Given the description of an element on the screen output the (x, y) to click on. 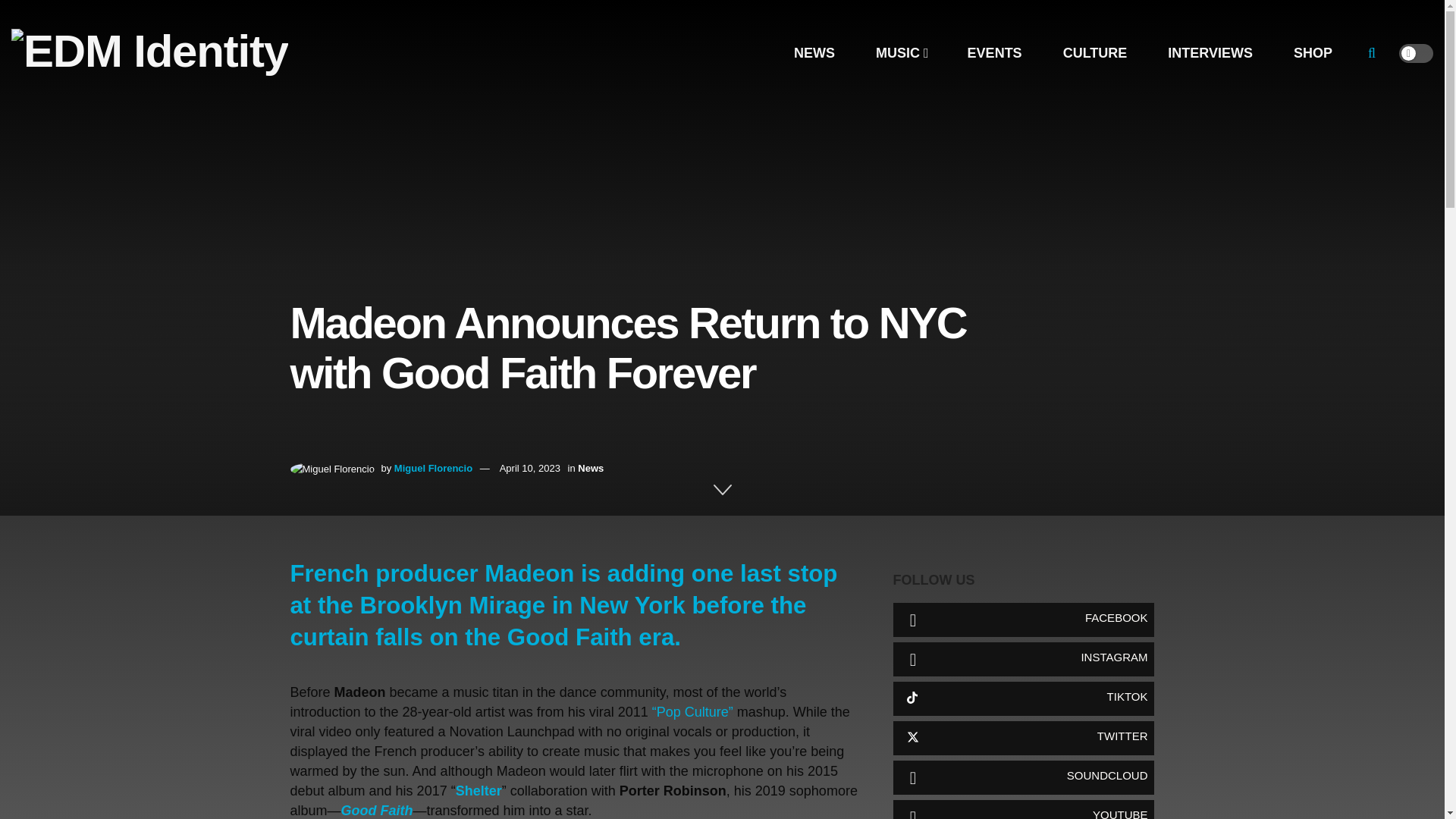
NEWS (814, 53)
Miguel Florencio (432, 468)
INTERVIEWS (1210, 53)
April 10, 2023 (529, 468)
EVENTS (994, 53)
News (591, 468)
Shelter (478, 790)
MUSIC (901, 53)
Good Faith (376, 810)
SHOP (1312, 53)
CULTURE (1095, 53)
